Given the description of an element on the screen output the (x, y) to click on. 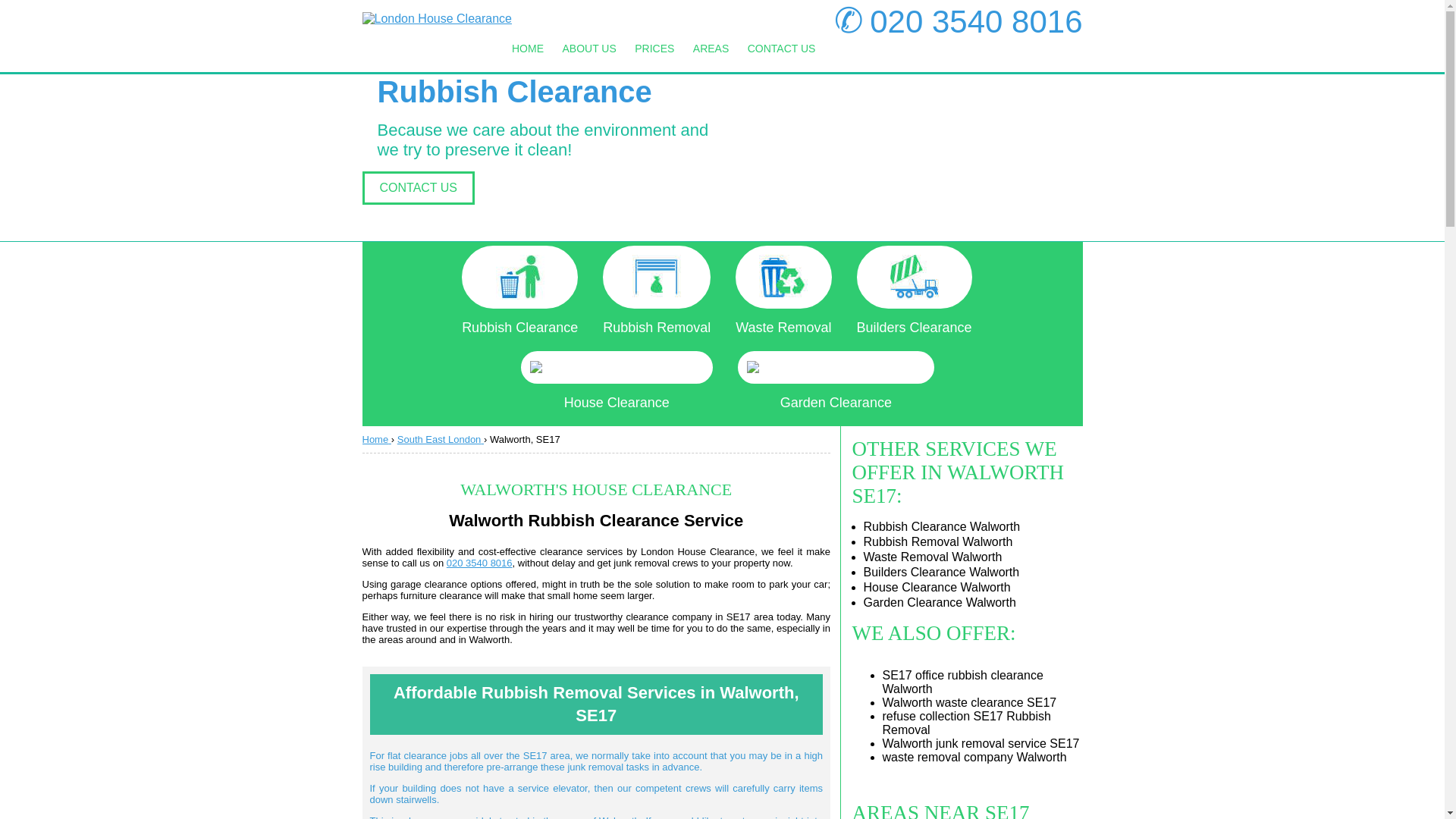
020 3540 8016 (975, 21)
Rubbish Clearance (519, 290)
Call free 020 3540 8016 (479, 562)
Builders Clearance (914, 290)
Home (376, 439)
South East London (440, 439)
CONTACT US (781, 48)
Garden Clearance (836, 381)
Builders Clearance (914, 290)
PRICES (654, 48)
AREAS (710, 48)
Rubbish Removal (656, 290)
HOME (527, 48)
Garden Clearance (836, 381)
House Clearance (617, 381)
